Given the description of an element on the screen output the (x, y) to click on. 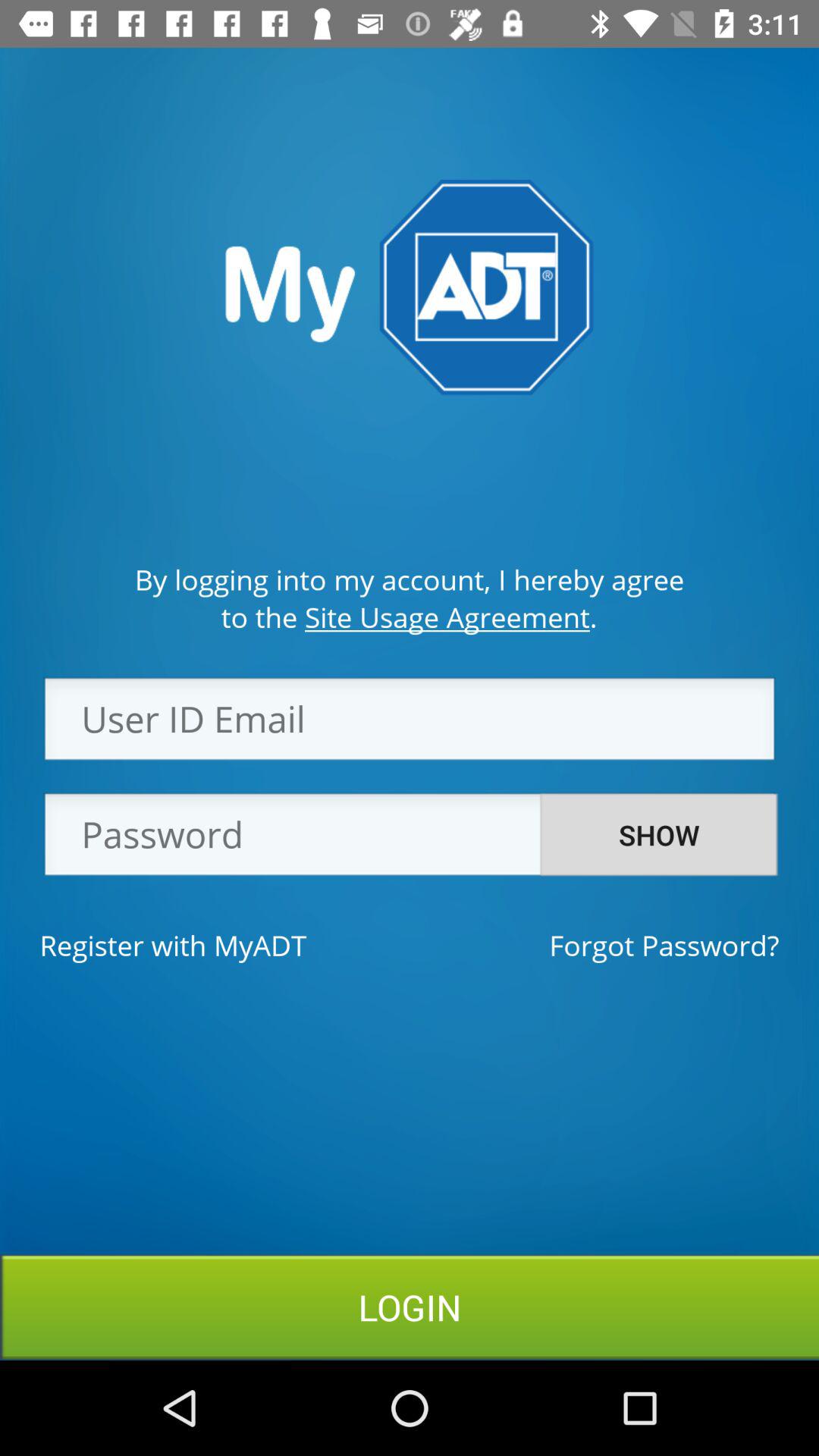
click login item (409, 1307)
